Given the description of an element on the screen output the (x, y) to click on. 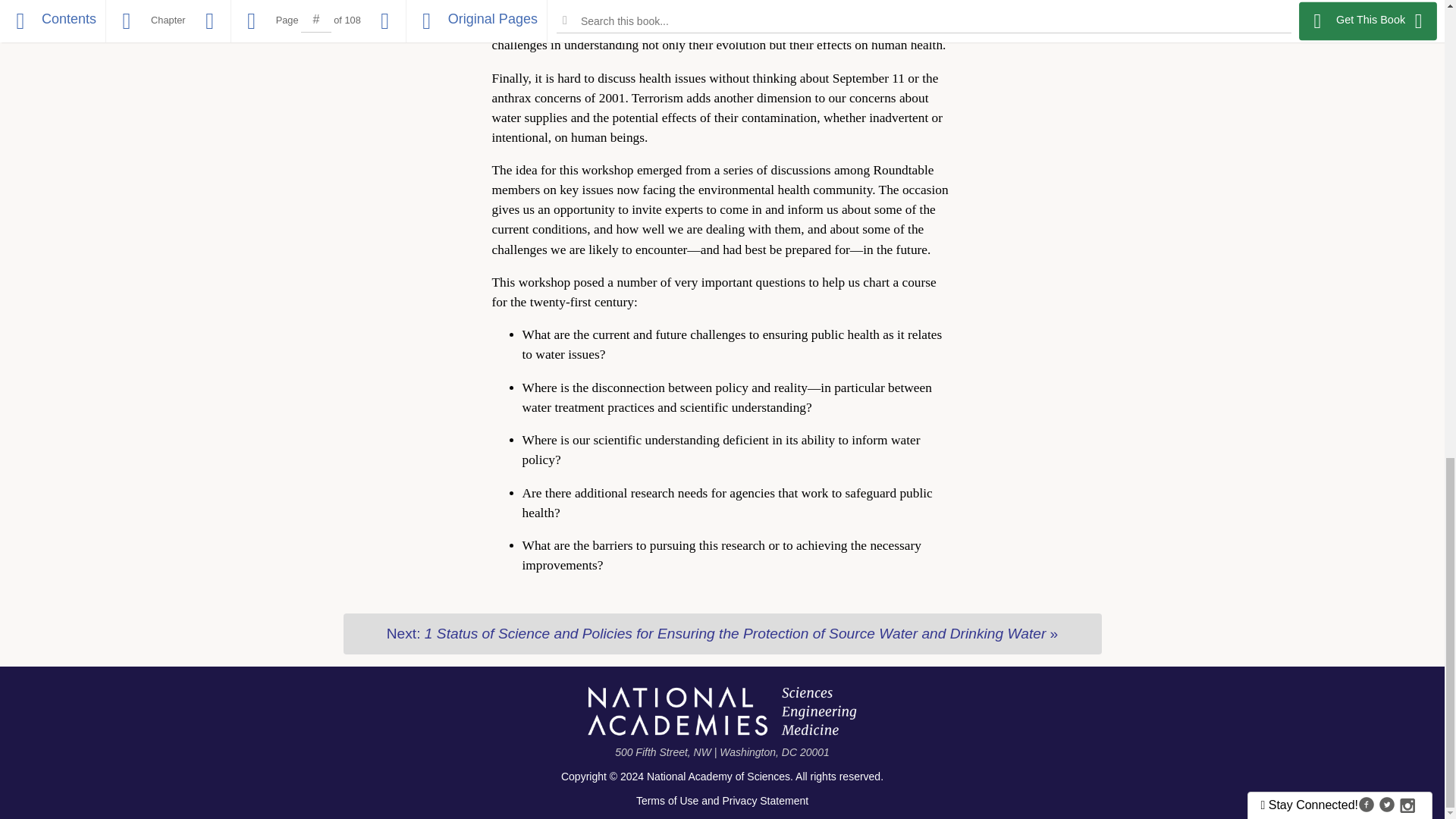
Next Chapter (721, 633)
